Given the description of an element on the screen output the (x, y) to click on. 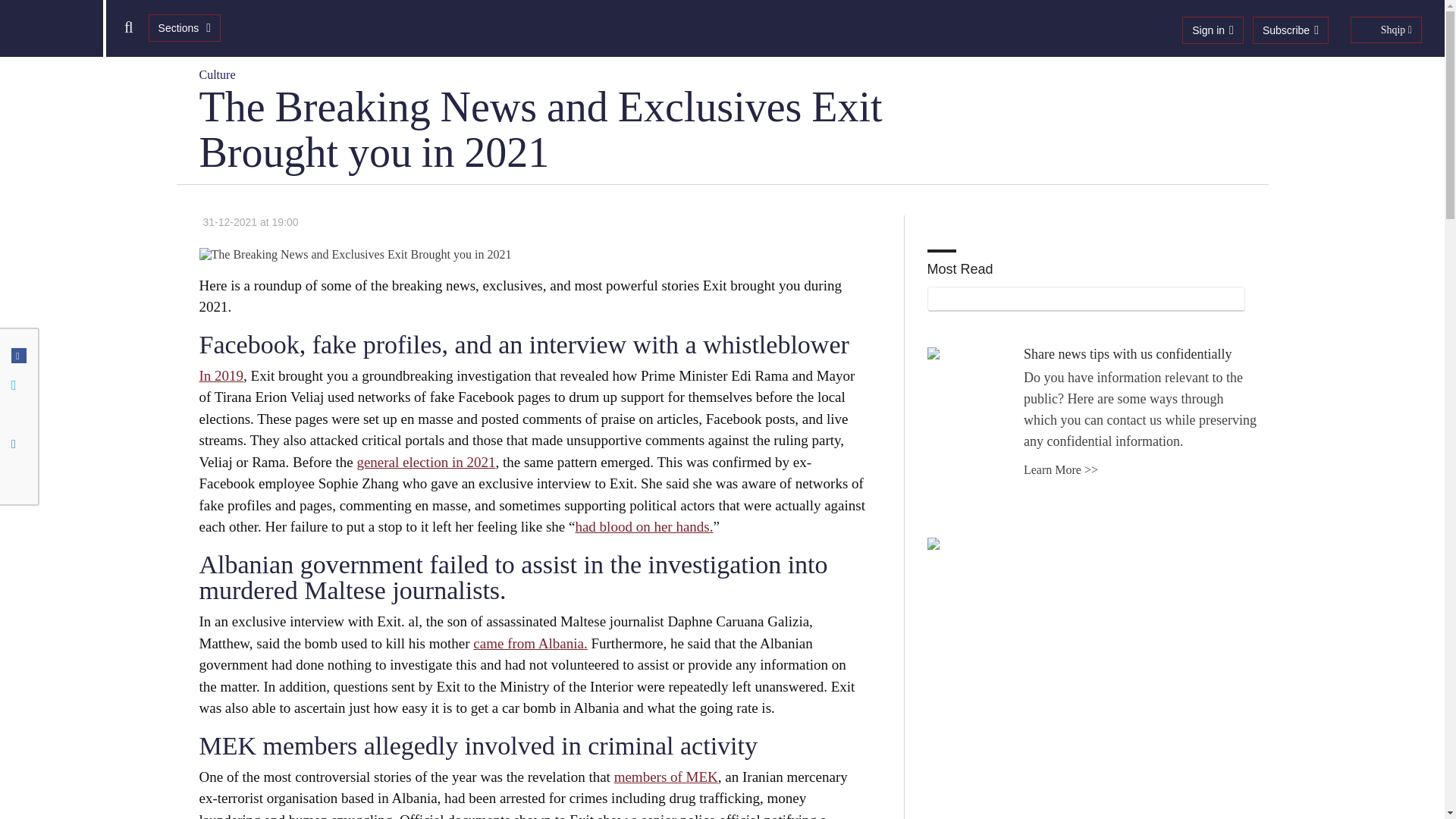
Share on Twitter (18, 384)
  Shqip (1386, 29)
members of MEK (665, 776)
Share on Facebook (18, 355)
Share on LinkedIn (18, 444)
had blood on her hands. (644, 526)
general election in 2021 (425, 462)
Share on Messenger (18, 414)
came from Albania. (529, 643)
Culture (216, 74)
albania vjosa river hpp (532, 254)
Sign in (1212, 30)
Sections (184, 27)
In 2019 (220, 375)
Subscribe (1289, 30)
